Given the description of an element on the screen output the (x, y) to click on. 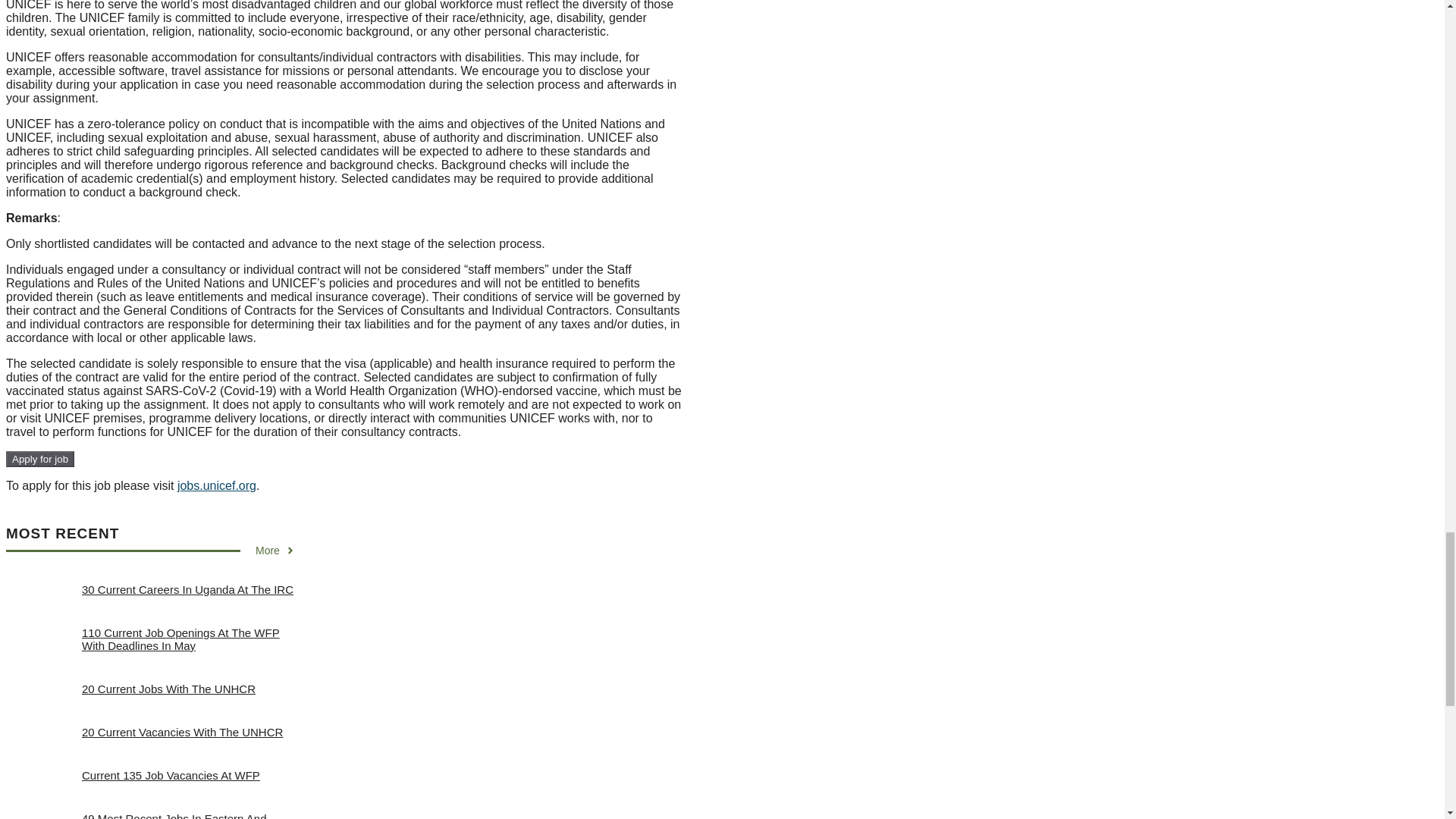
Current 135 Job Vacancies At WFP (170, 775)
Apply for job (39, 458)
jobs.unicef.org (216, 485)
110 Current Job Openings At The WFP With Deadlines In May (180, 638)
More (275, 550)
20 Current Vacancies With The UNHCR (181, 731)
30 Current Careers In Uganda At The IRC (187, 589)
20 Current Jobs With The UNHCR (168, 688)
